Given the description of an element on the screen output the (x, y) to click on. 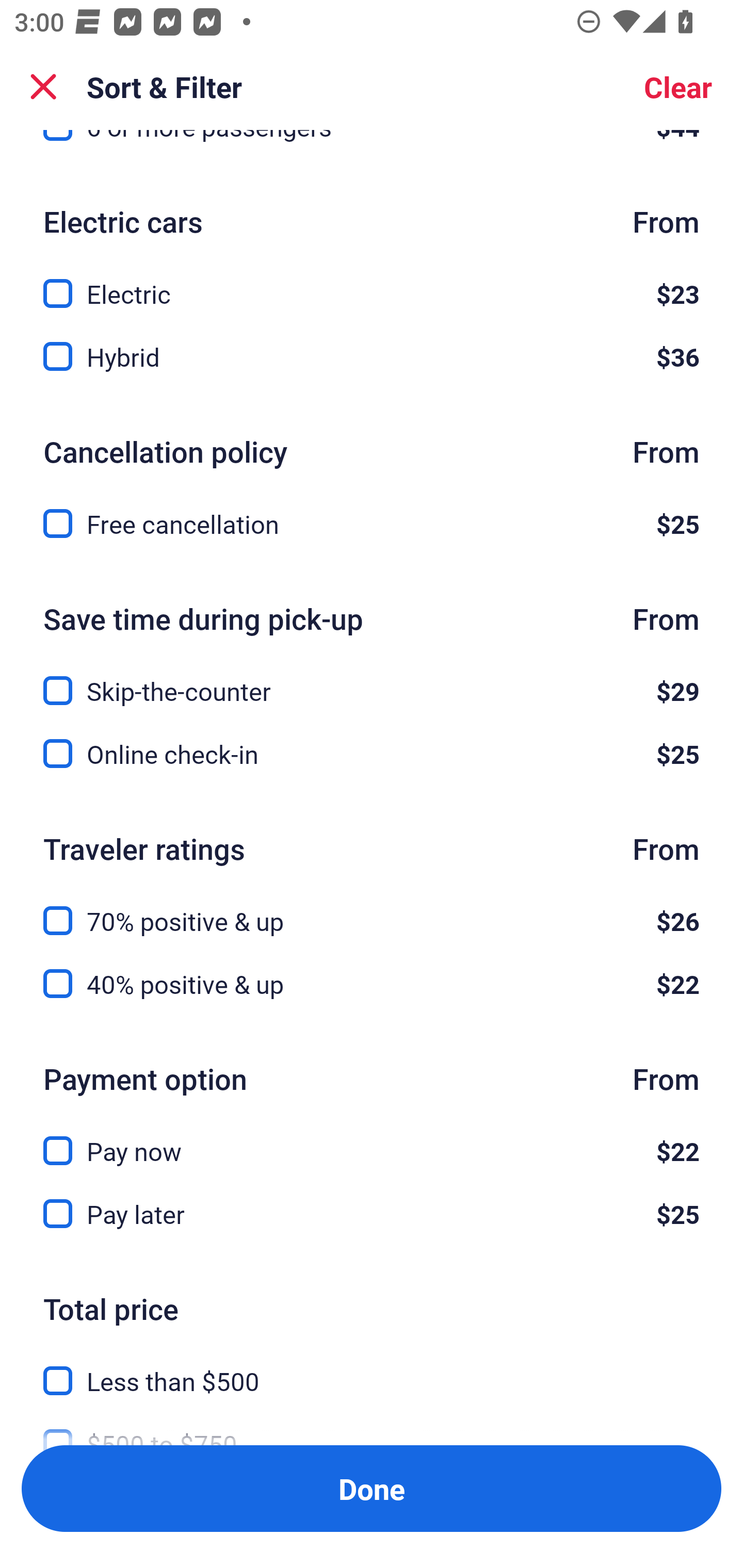
Close Sort and Filter (43, 86)
Clear (677, 86)
Electric, $23 Electric $23 (371, 281)
Hybrid, $36 Hybrid $36 (371, 356)
Free cancellation, $25 Free cancellation $25 (371, 524)
Skip-the-counter, $29 Skip-the-counter $29 (371, 678)
Online check-in, $25 Online check-in $25 (371, 754)
70% positive & up, $26 70% positive & up $26 (371, 909)
40% positive & up, $22 40% positive & up $22 (371, 983)
Pay now, $22 Pay now $22 (371, 1139)
Pay later, $25 Pay later $25 (371, 1214)
Less than $500, Less than $500 (371, 1368)
Apply and close Sort and Filter Done (371, 1488)
